Given the description of an element on the screen output the (x, y) to click on. 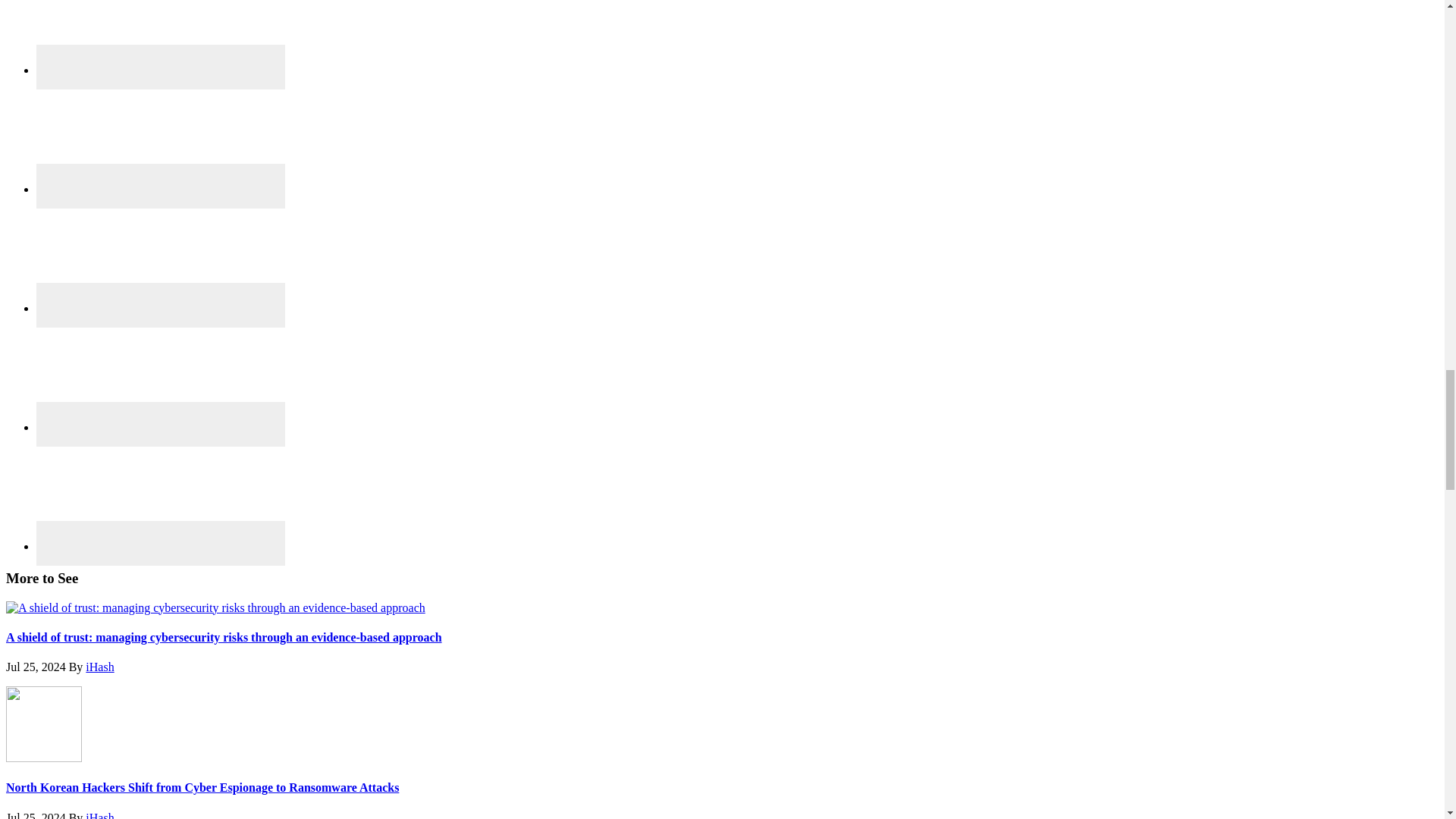
Twitter (160, 374)
YouTube (160, 493)
GitHub (160, 37)
Pinterest (160, 255)
Instagram (160, 136)
